Given the description of an element on the screen output the (x, y) to click on. 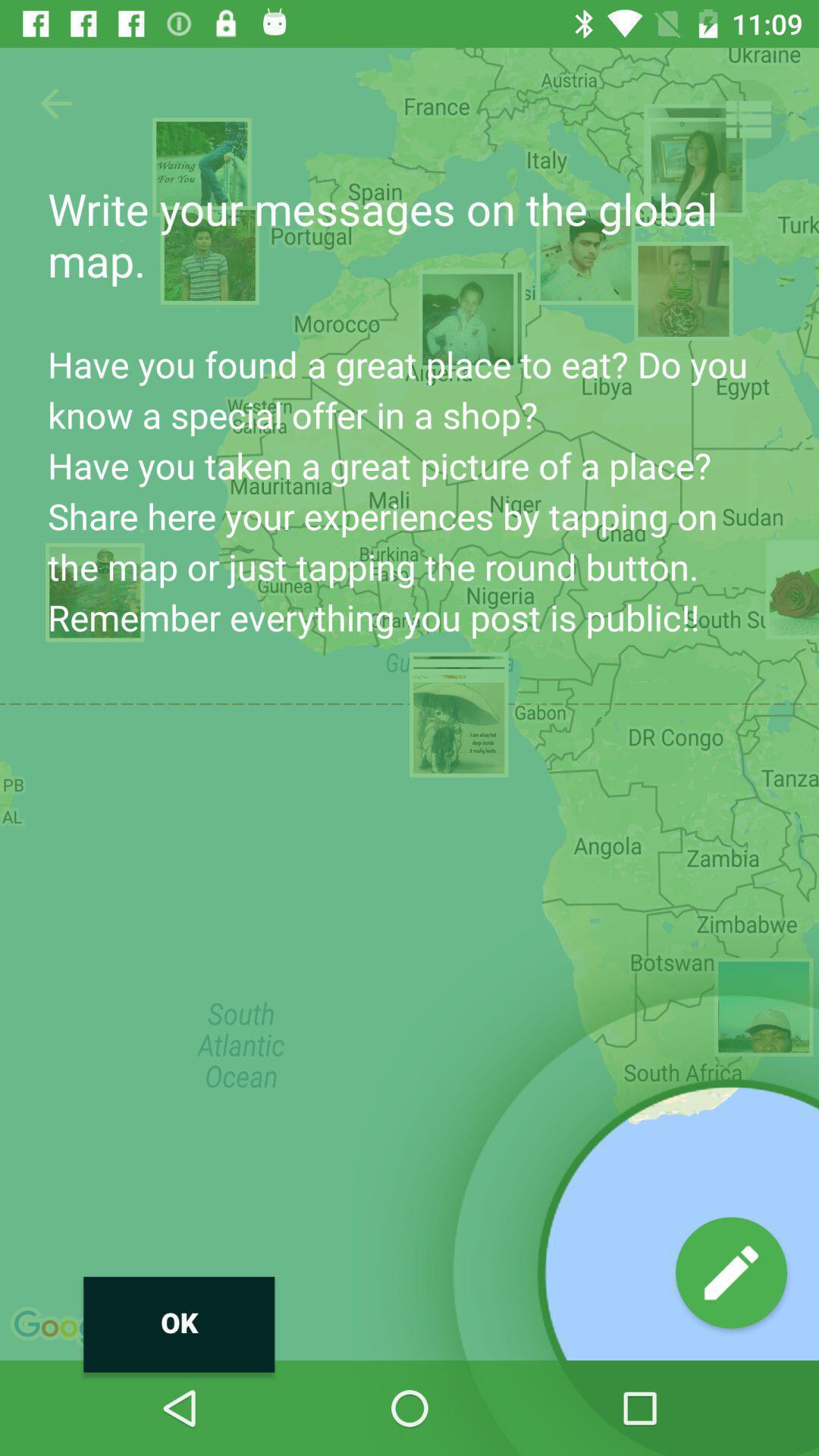
jump to ok icon (178, 1324)
